Given the description of an element on the screen output the (x, y) to click on. 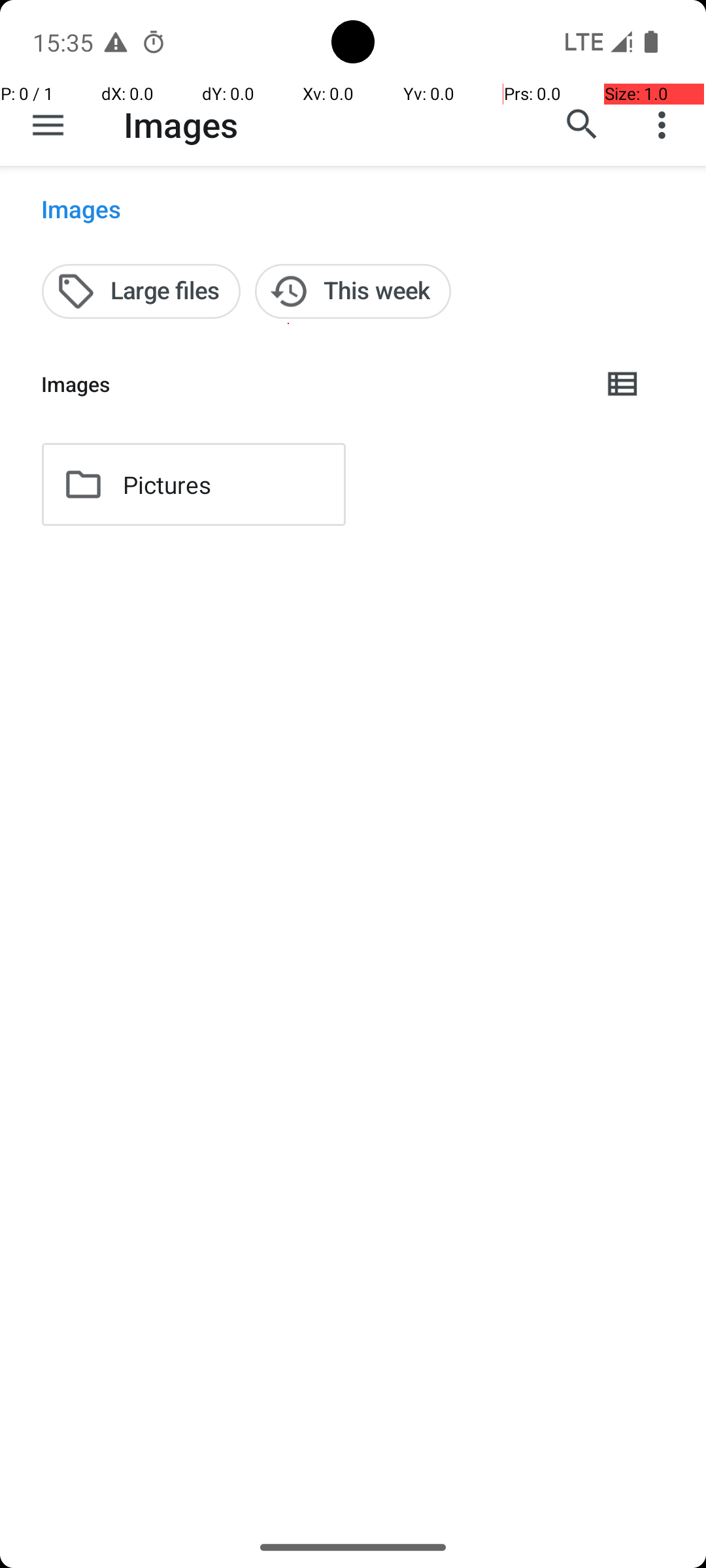
Pictures Element type: android.widget.TextView (166, 484)
